Given the description of an element on the screen output the (x, y) to click on. 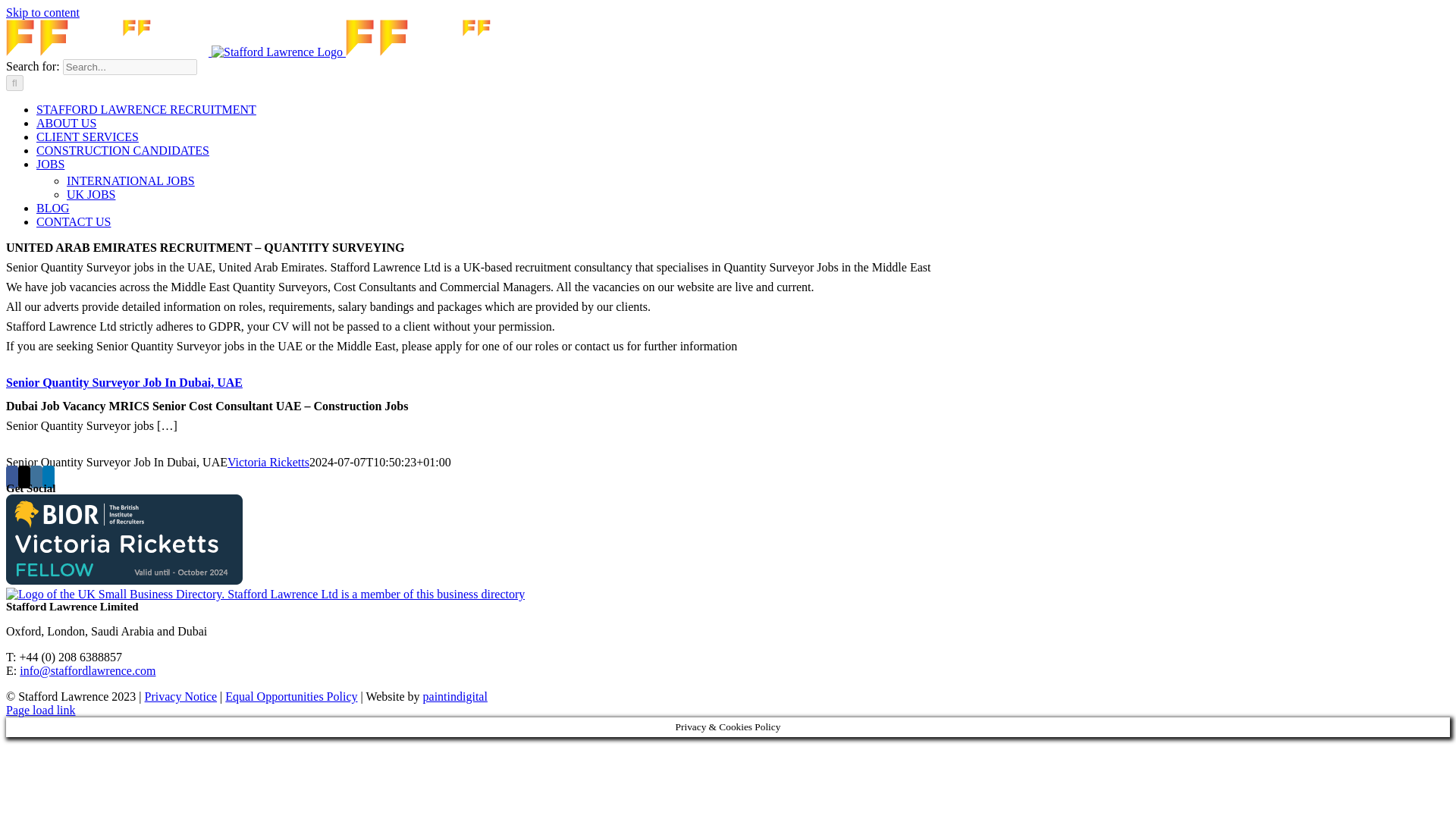
Privacy Notice (180, 696)
CONSTRUCTION CANDIDATES (122, 150)
INTERNATIONAL JOBS (130, 180)
paintindigital (455, 696)
Senior Quantity Surveyor Job In Dubai, UAE (124, 382)
Page load link (40, 709)
CLIENT SERVICES (87, 136)
Victoria Ricketts (267, 461)
Equal Opportunities Policy (290, 696)
STAFFORD LAWRENCE RECRUITMENT (146, 109)
